Given the description of an element on the screen output the (x, y) to click on. 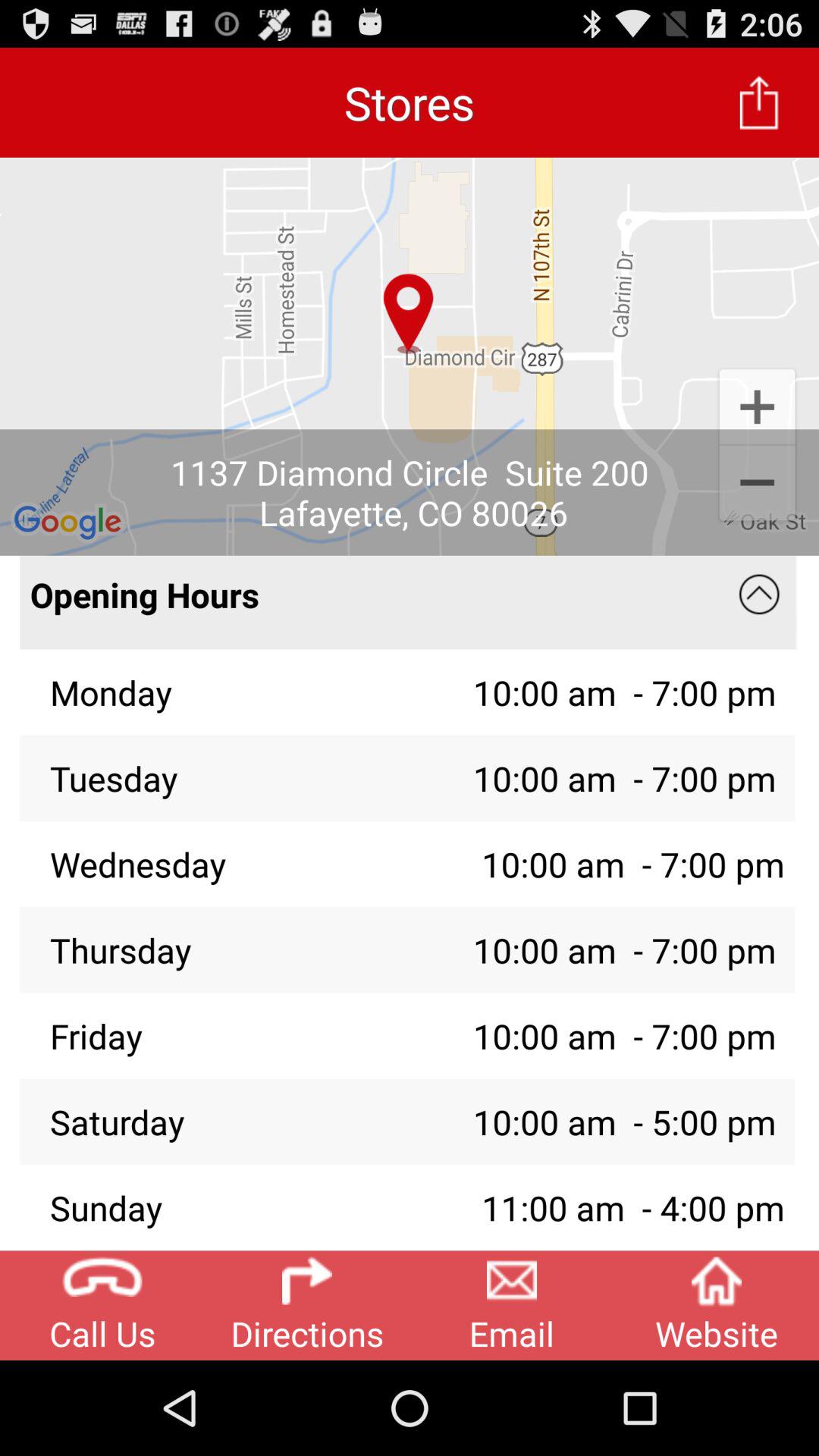
open the call us icon (102, 1305)
